Given the description of an element on the screen output the (x, y) to click on. 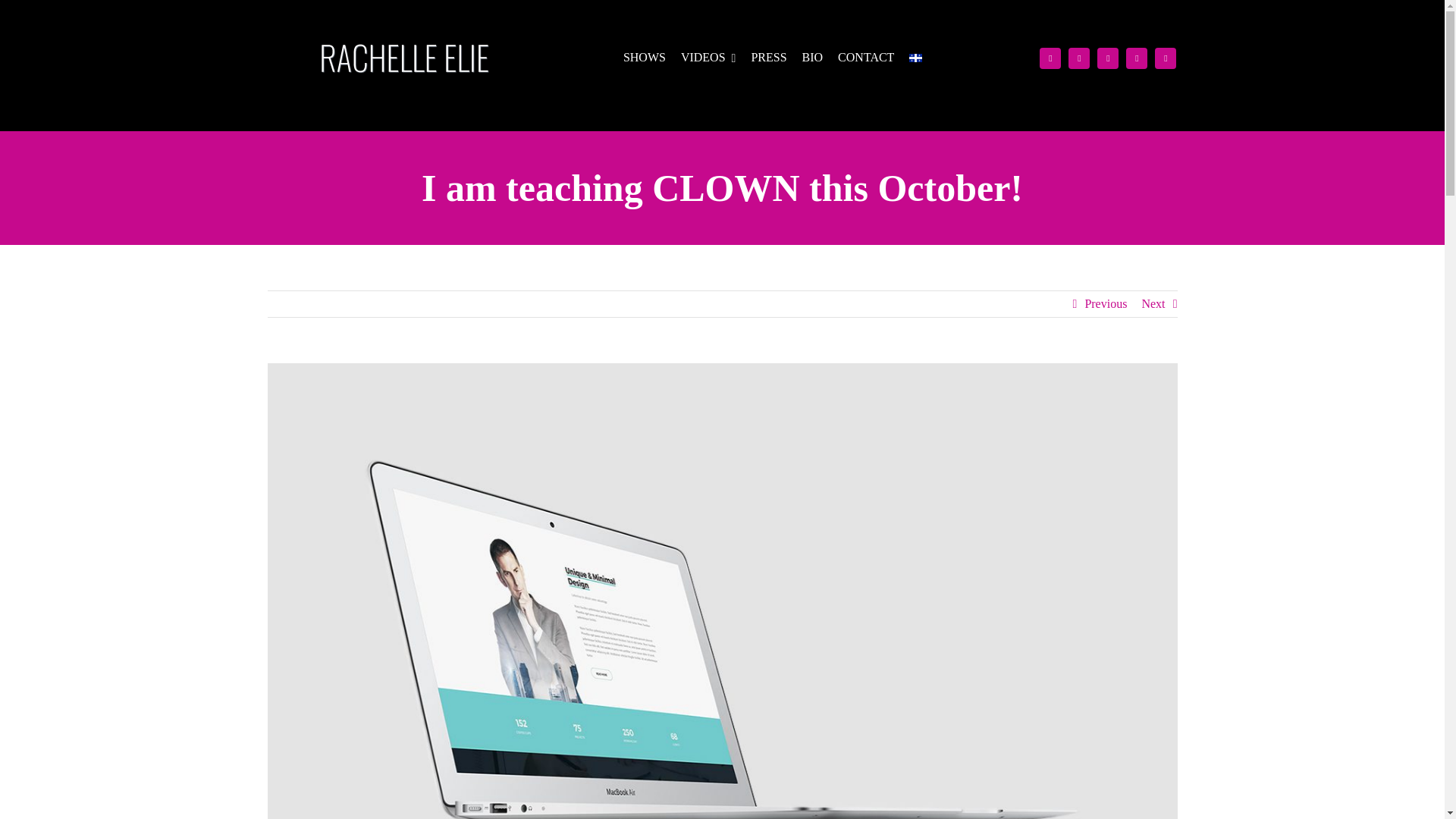
Twitter (1165, 56)
PRESS (768, 57)
VIDEOS (708, 57)
CONTACT (866, 57)
cropped-rachelle-elie-white-e1579651093581.png (403, 57)
Tiktok (1078, 56)
SHOWS (644, 57)
Previous (1105, 303)
Next (1152, 303)
